Given the description of an element on the screen output the (x, y) to click on. 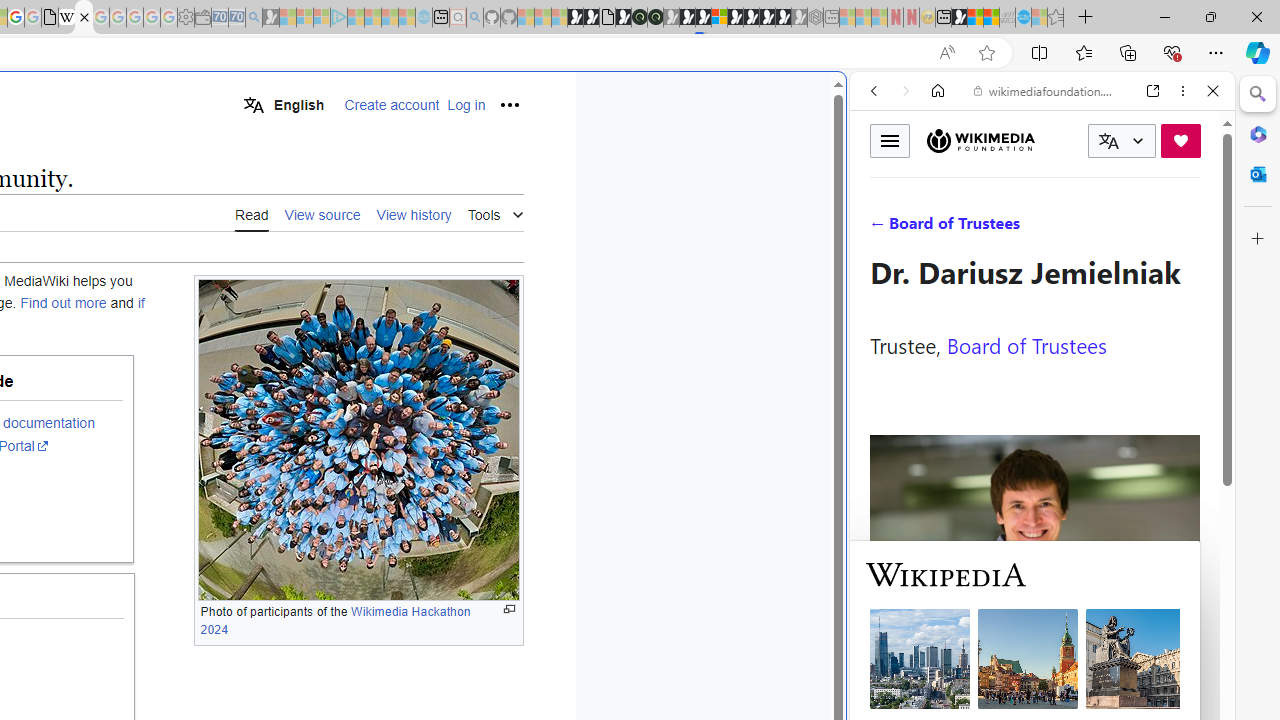
Read (251, 214)
View source (322, 213)
